Given the description of an element on the screen output the (x, y) to click on. 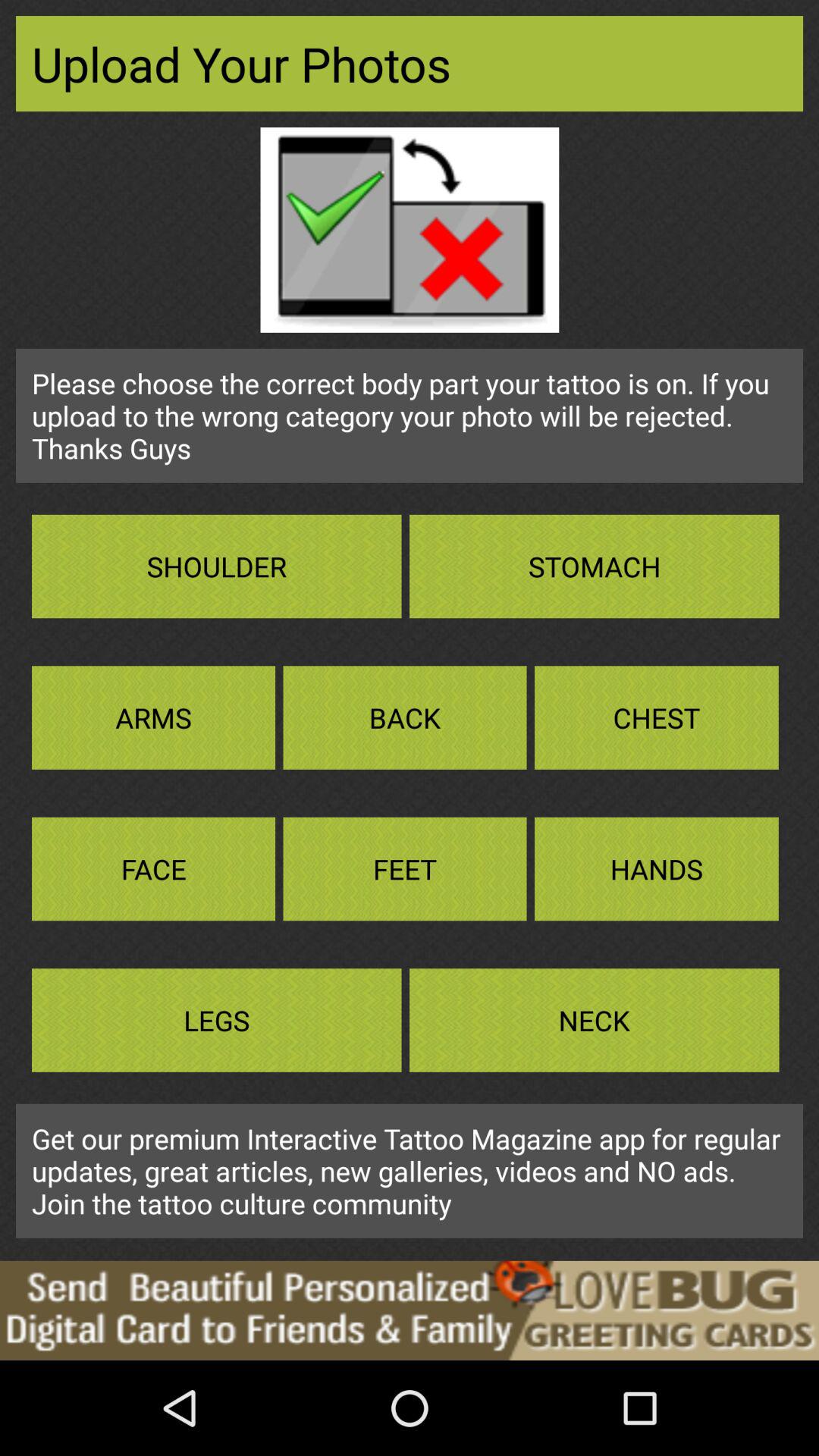
open advertisement (409, 1310)
